Given the description of an element on the screen output the (x, y) to click on. 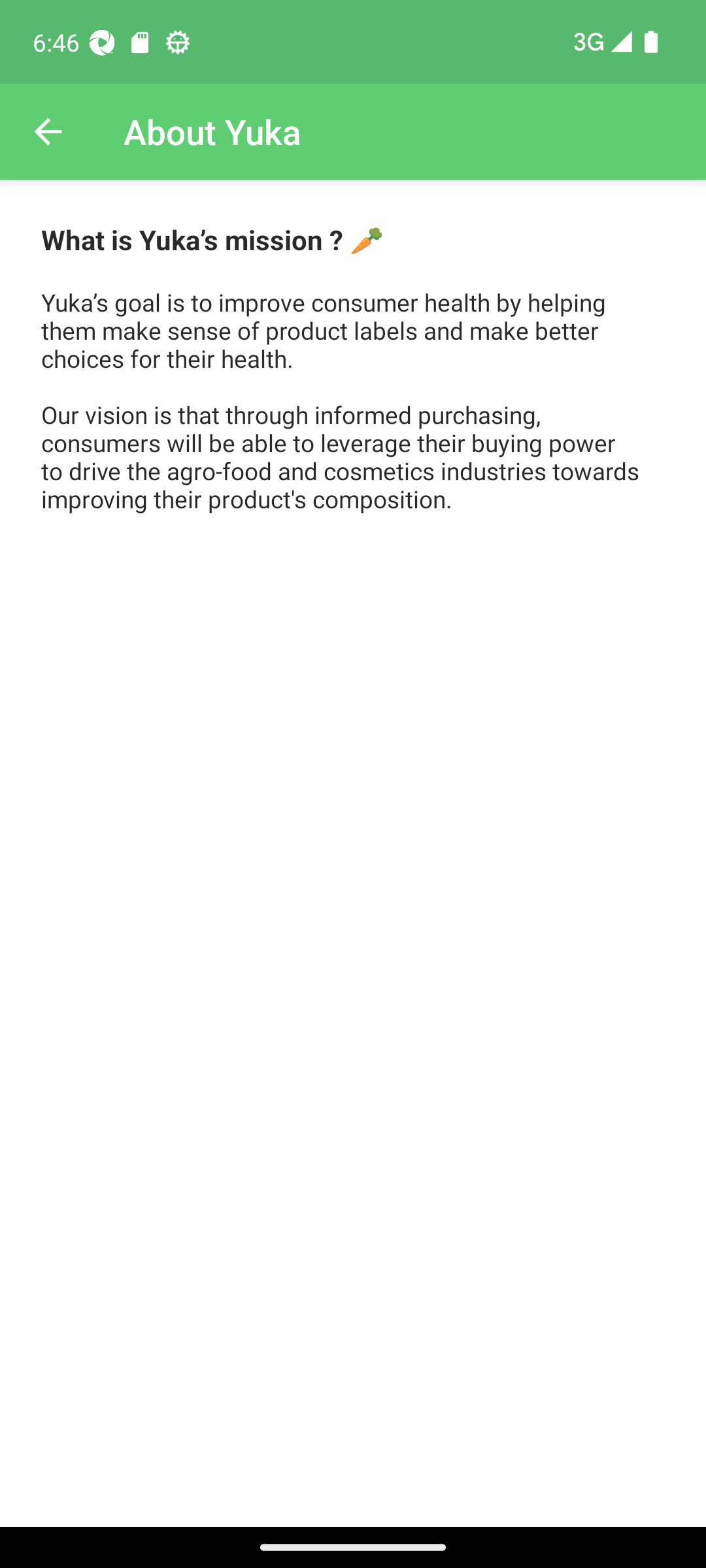
Navigate up (48, 131)
